Given the description of an element on the screen output the (x, y) to click on. 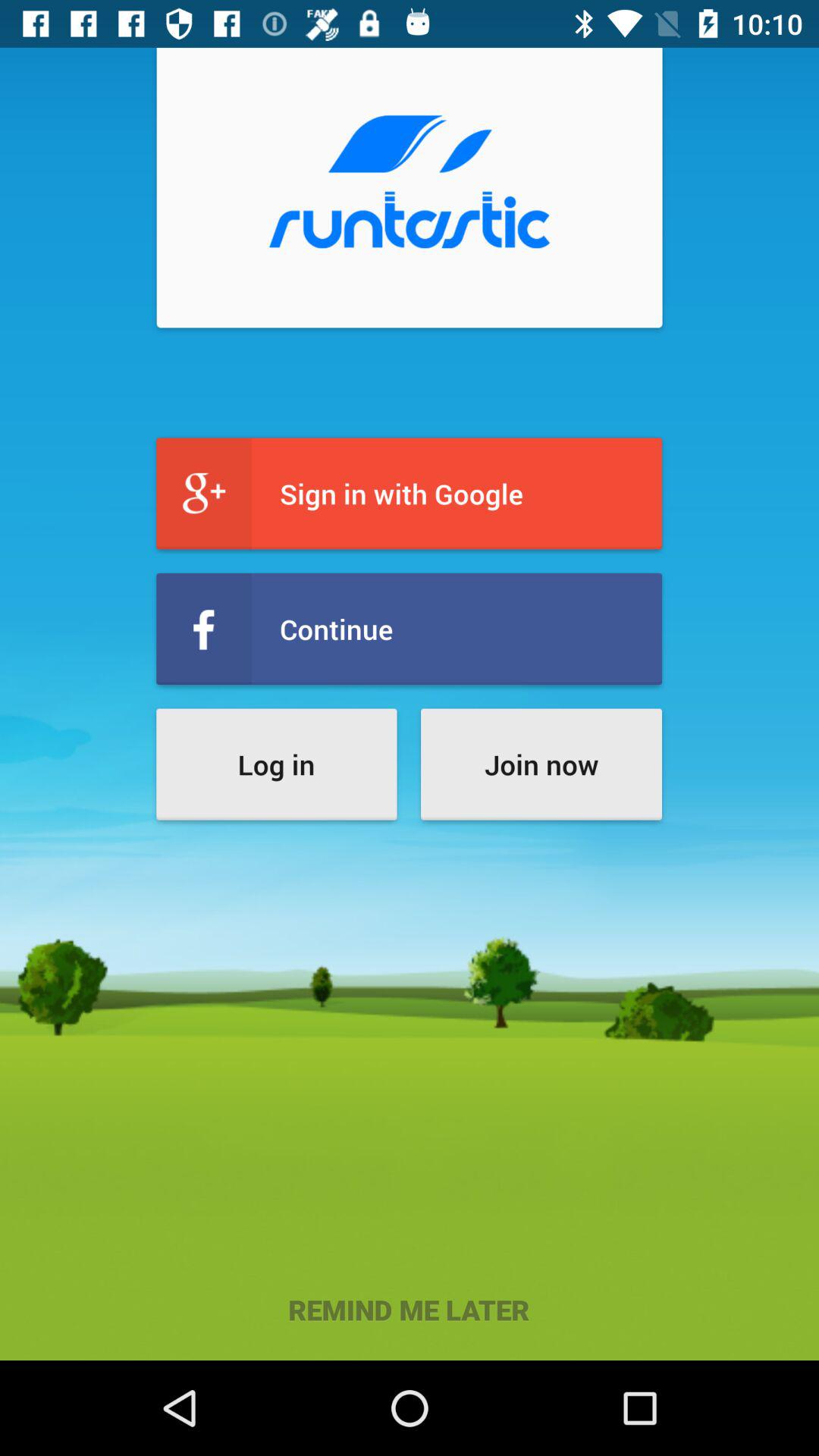
scroll until the sign in with (409, 493)
